Given the description of an element on the screen output the (x, y) to click on. 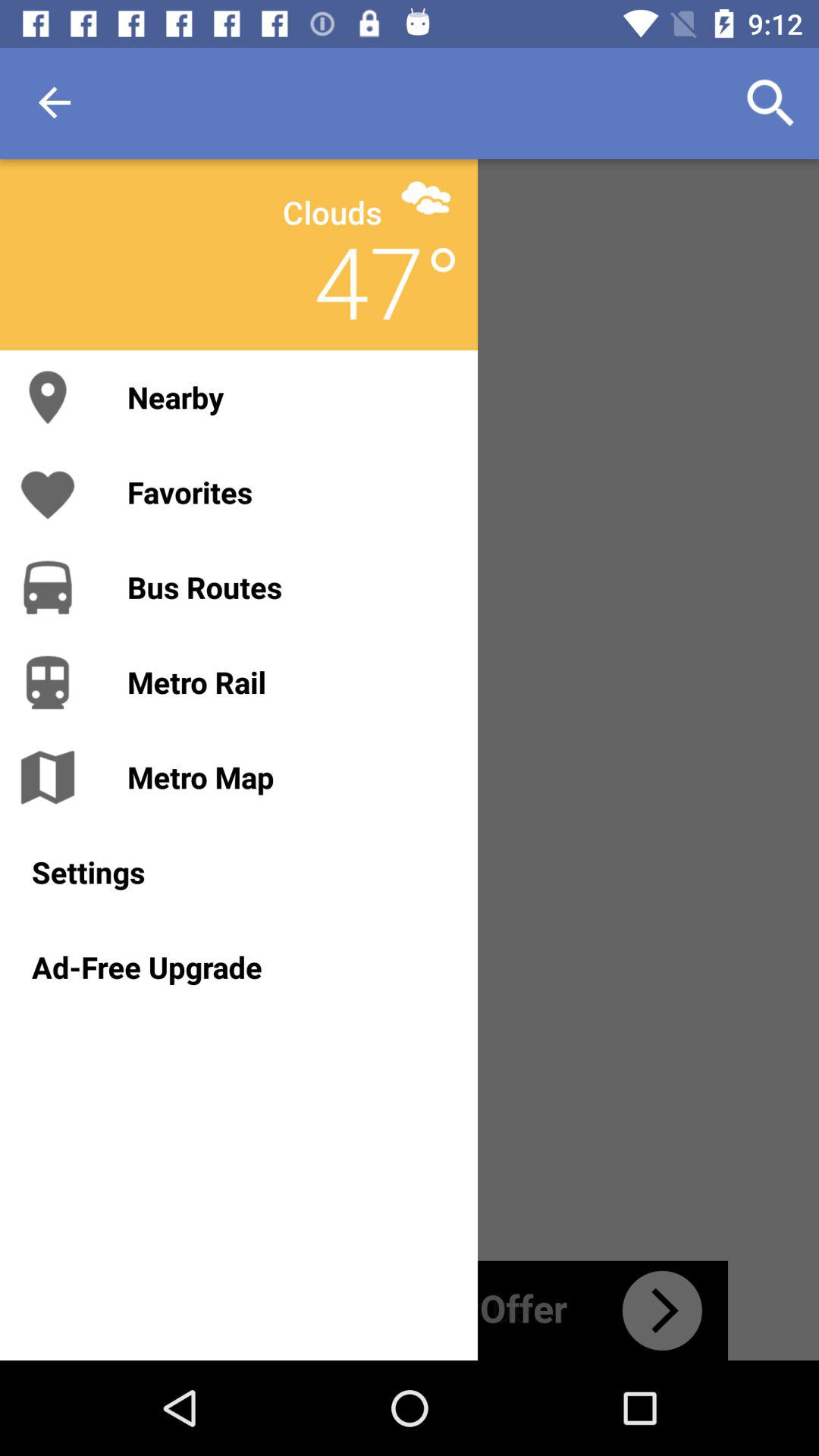
click the favorites icon (286, 492)
